Given the description of an element on the screen output the (x, y) to click on. 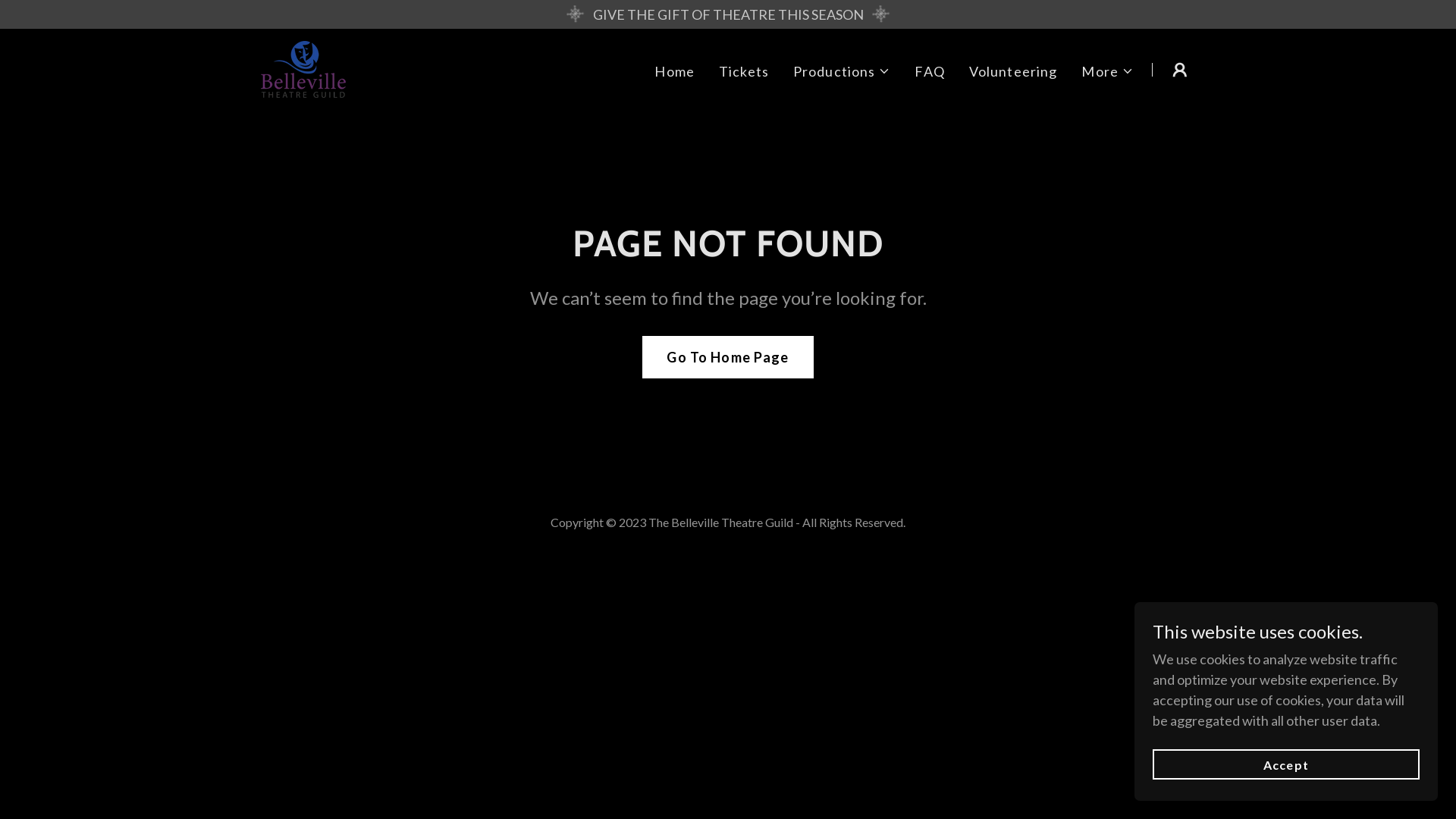
Productions Element type: text (841, 70)
The Belleville Theatre Guild Element type: hover (302, 67)
Go To Home Page Element type: text (727, 356)
More Element type: text (1107, 70)
FAQ Element type: text (929, 70)
Volunteering Element type: text (1013, 70)
Tickets Element type: text (743, 70)
Accept Element type: text (1285, 764)
Home Element type: text (674, 70)
